Given the description of an element on the screen output the (x, y) to click on. 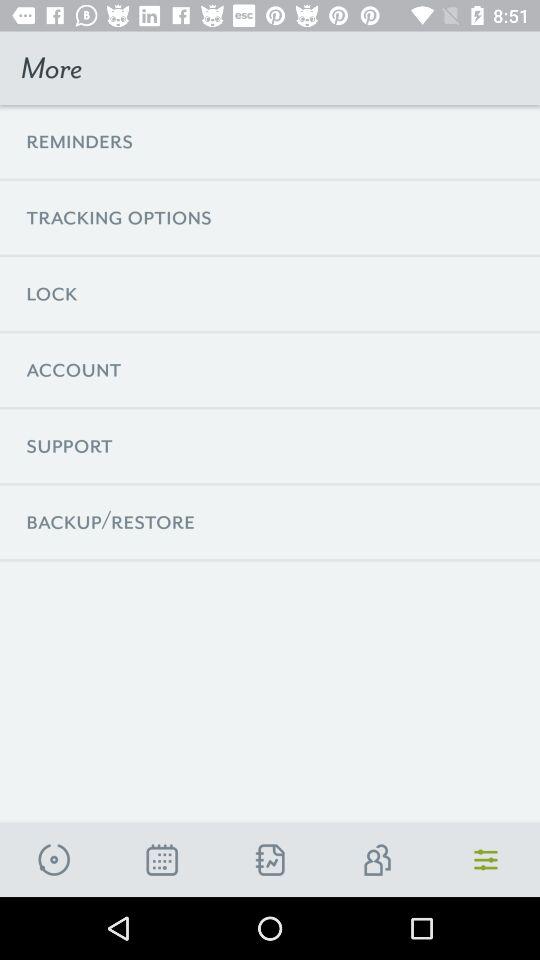
show calendar (162, 860)
